Given the description of an element on the screen output the (x, y) to click on. 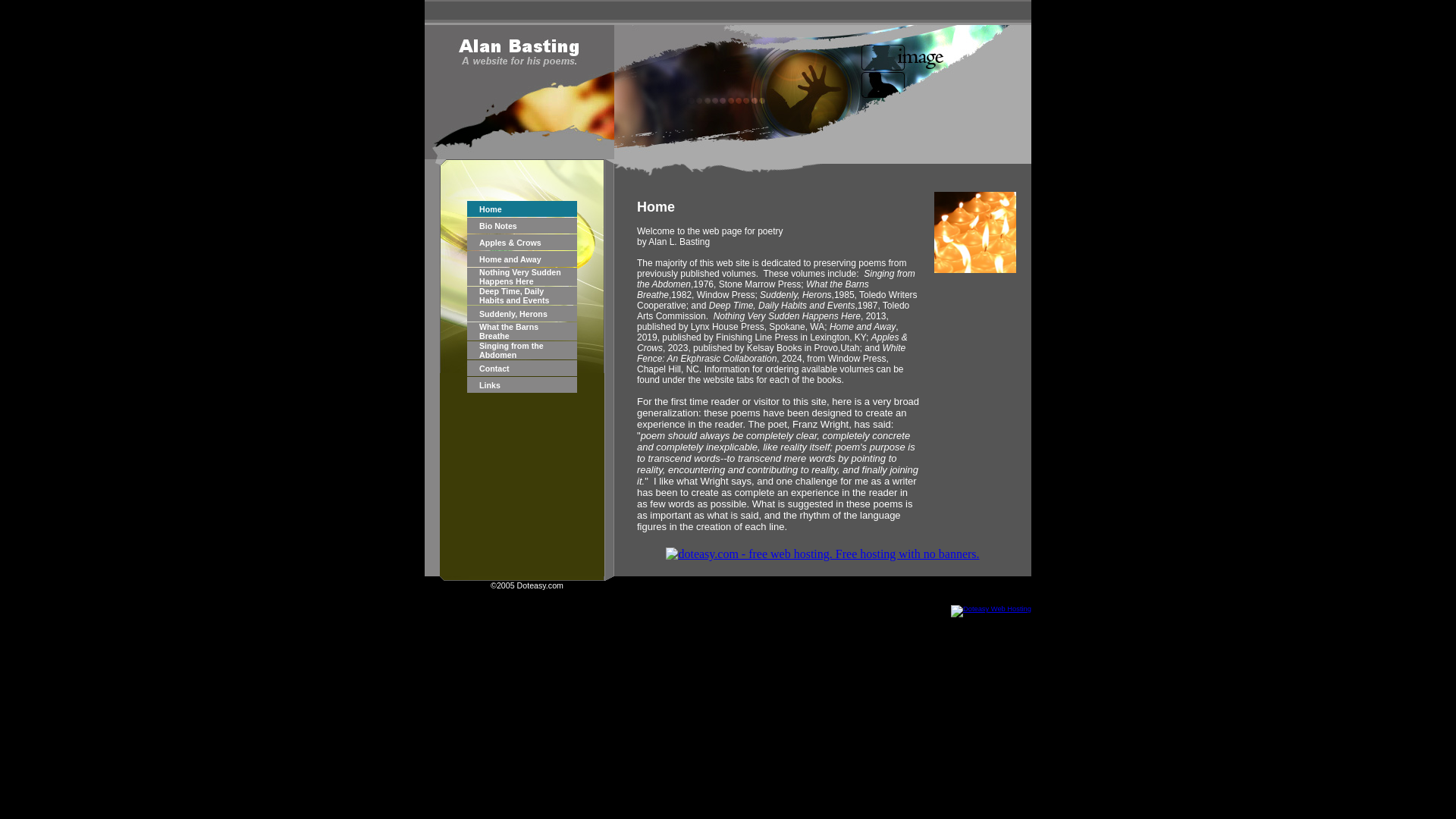
Contact (494, 368)
Home and Away (510, 258)
Suddenly, Herons (513, 313)
Deep Time, Daily Habits and Events (513, 295)
Nothing Very Sudden Happens Here (519, 276)
Bio Notes (497, 225)
Singing from the Abdomen (511, 350)
Links (489, 384)
Home (490, 208)
What the Barns Breathe (508, 331)
